Given the description of an element on the screen output the (x, y) to click on. 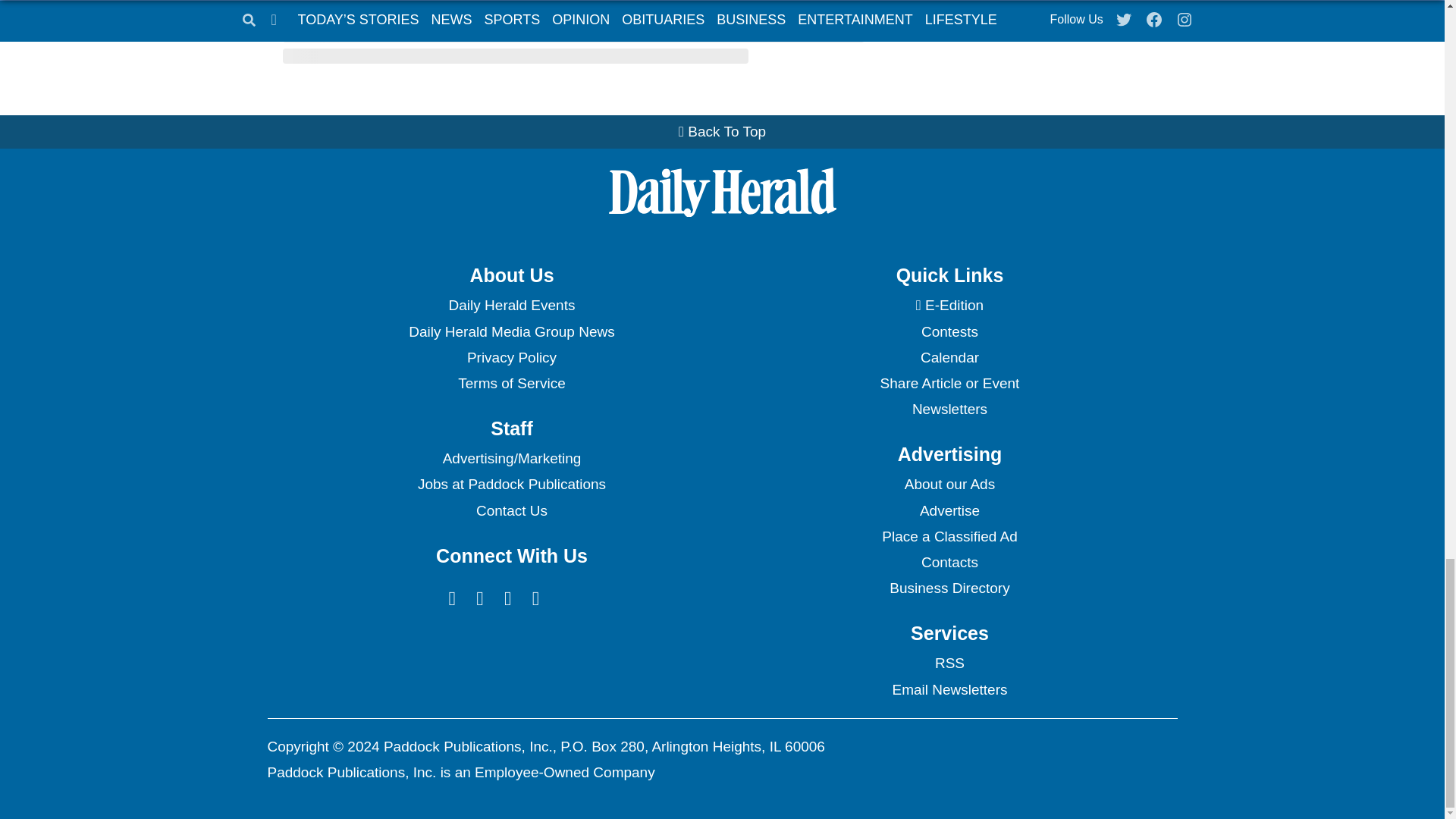
Terms of Service (511, 383)
Contact Us (511, 510)
Daily Herald Media Group News (511, 331)
Daily Herald Events (511, 305)
Daily Herald Digital Newspaper (949, 305)
Contests (949, 331)
Privacy Policy (511, 357)
Jobs at Paddock Publications (511, 484)
